Given the description of an element on the screen output the (x, y) to click on. 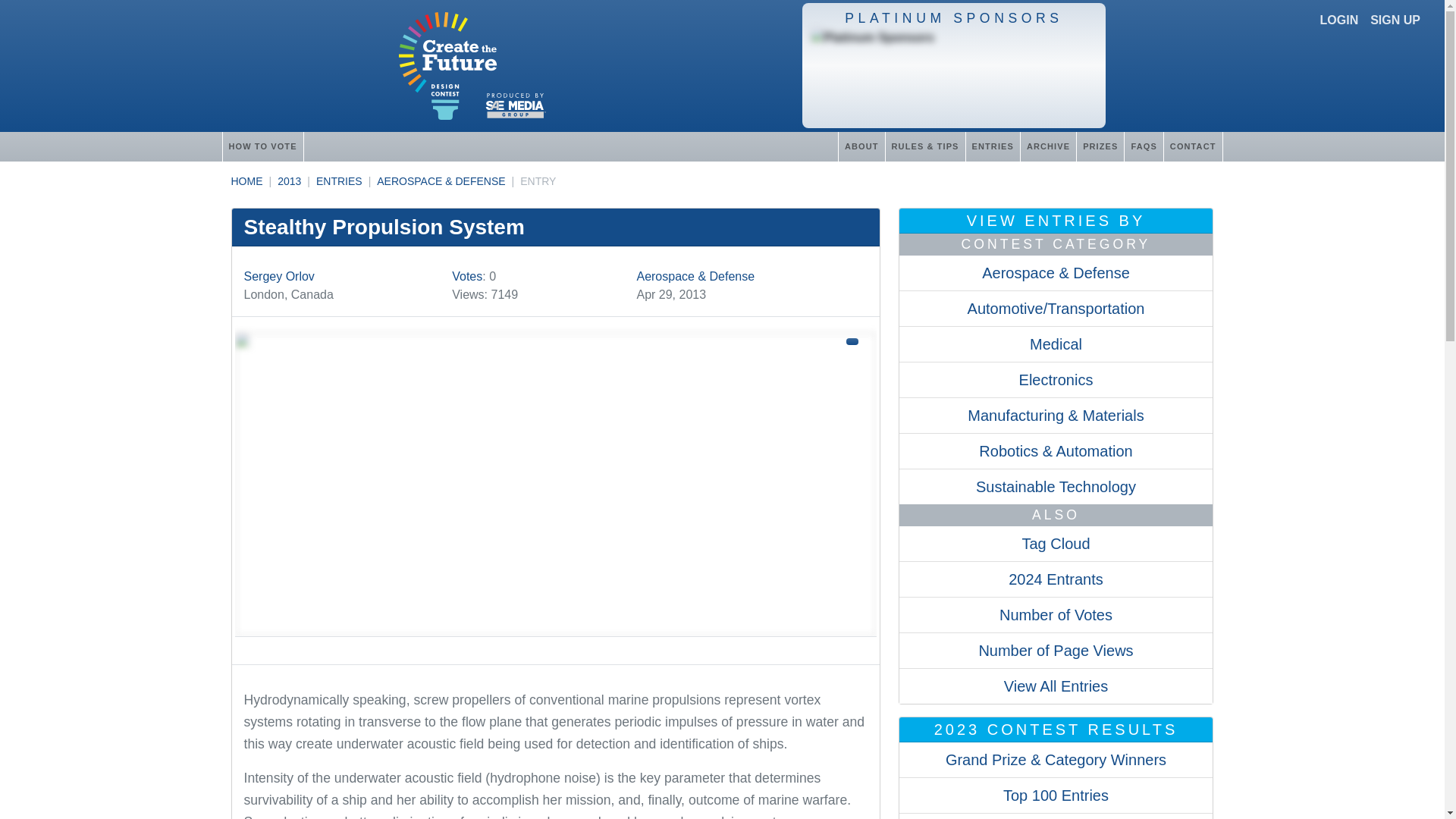
LOGIN (1339, 20)
Sergey Orlov (279, 276)
HOME (246, 181)
Votes (466, 276)
ENTRIES (992, 146)
ENTRIES (338, 181)
PRIZES (1099, 146)
ARCHIVE (1047, 146)
Goto slide (555, 651)
SIGN UP (1395, 20)
